Given the description of an element on the screen output the (x, y) to click on. 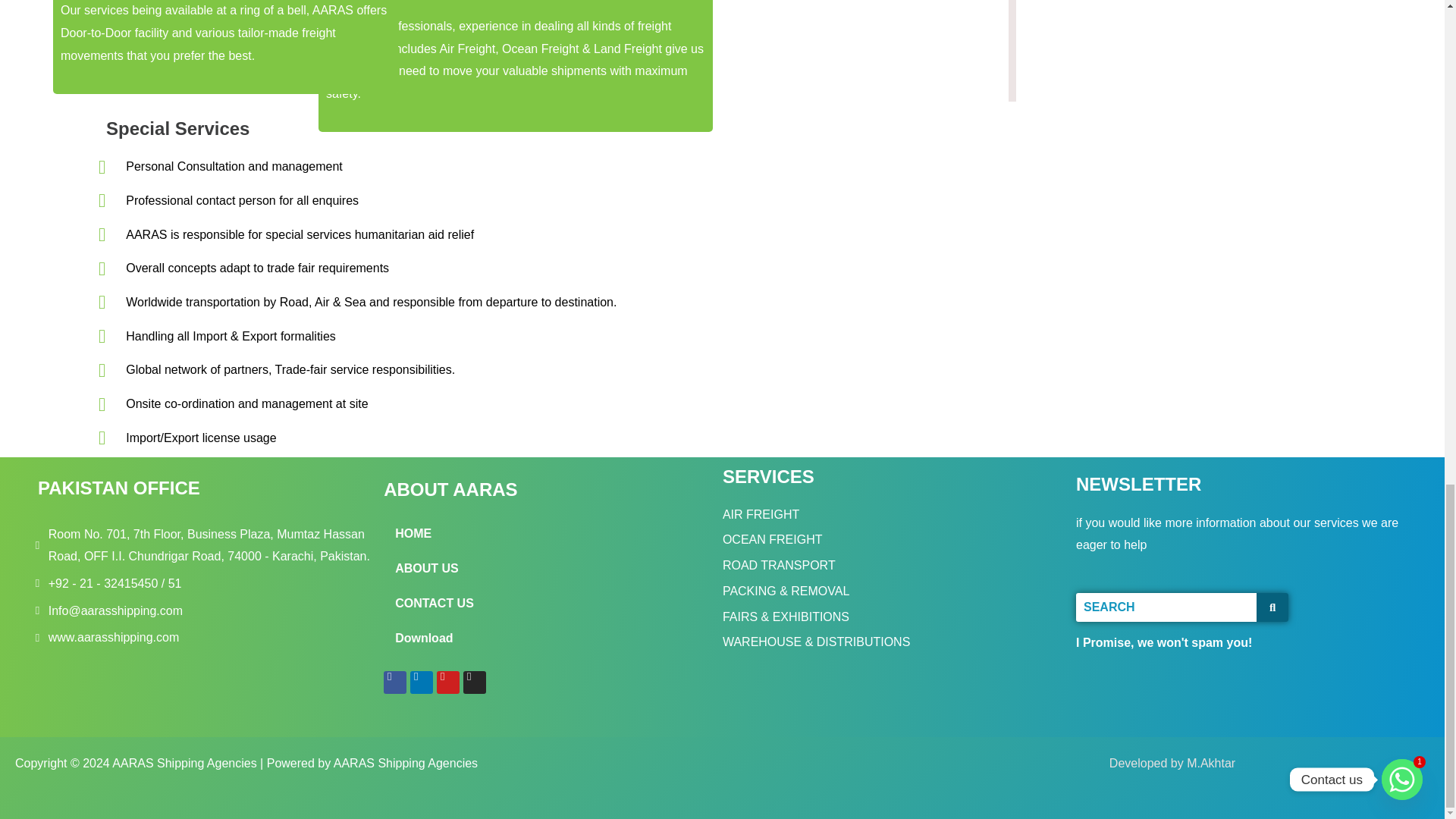
Linkedin (421, 681)
Facebook (395, 681)
ABOUT US (549, 568)
Youtube (448, 681)
HOME (549, 533)
CONTACT US (549, 603)
Download (549, 638)
Search (1165, 606)
